Given the description of an element on the screen output the (x, y) to click on. 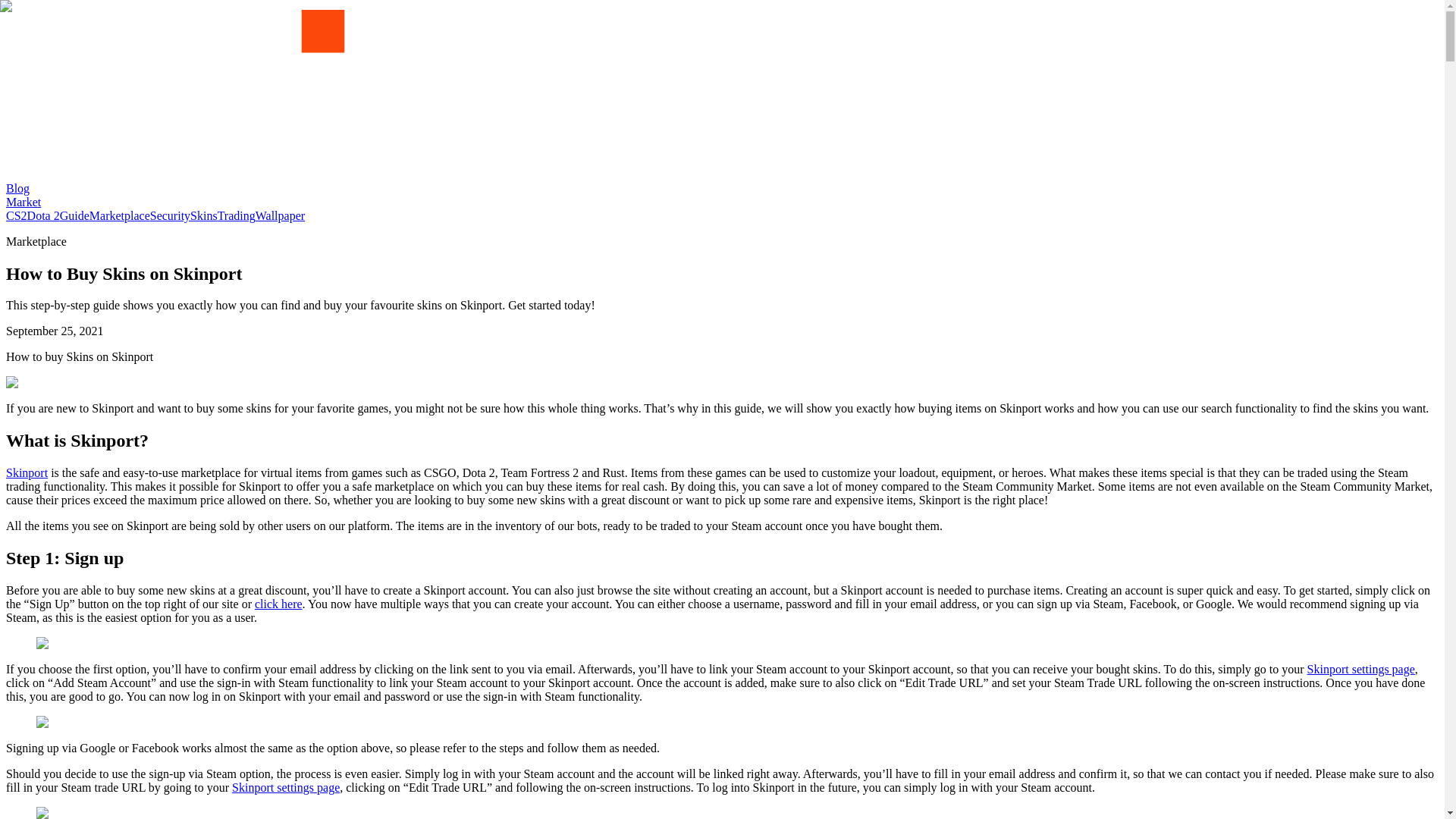
CS2 (16, 215)
Marketplace (118, 215)
Skinport settings page (285, 787)
Wallpaper (280, 215)
Skinport settings page (1361, 668)
click here (278, 603)
Trading (236, 215)
Dota 2 (43, 215)
Skinport (26, 472)
Skins (203, 215)
